Given the description of an element on the screen output the (x, y) to click on. 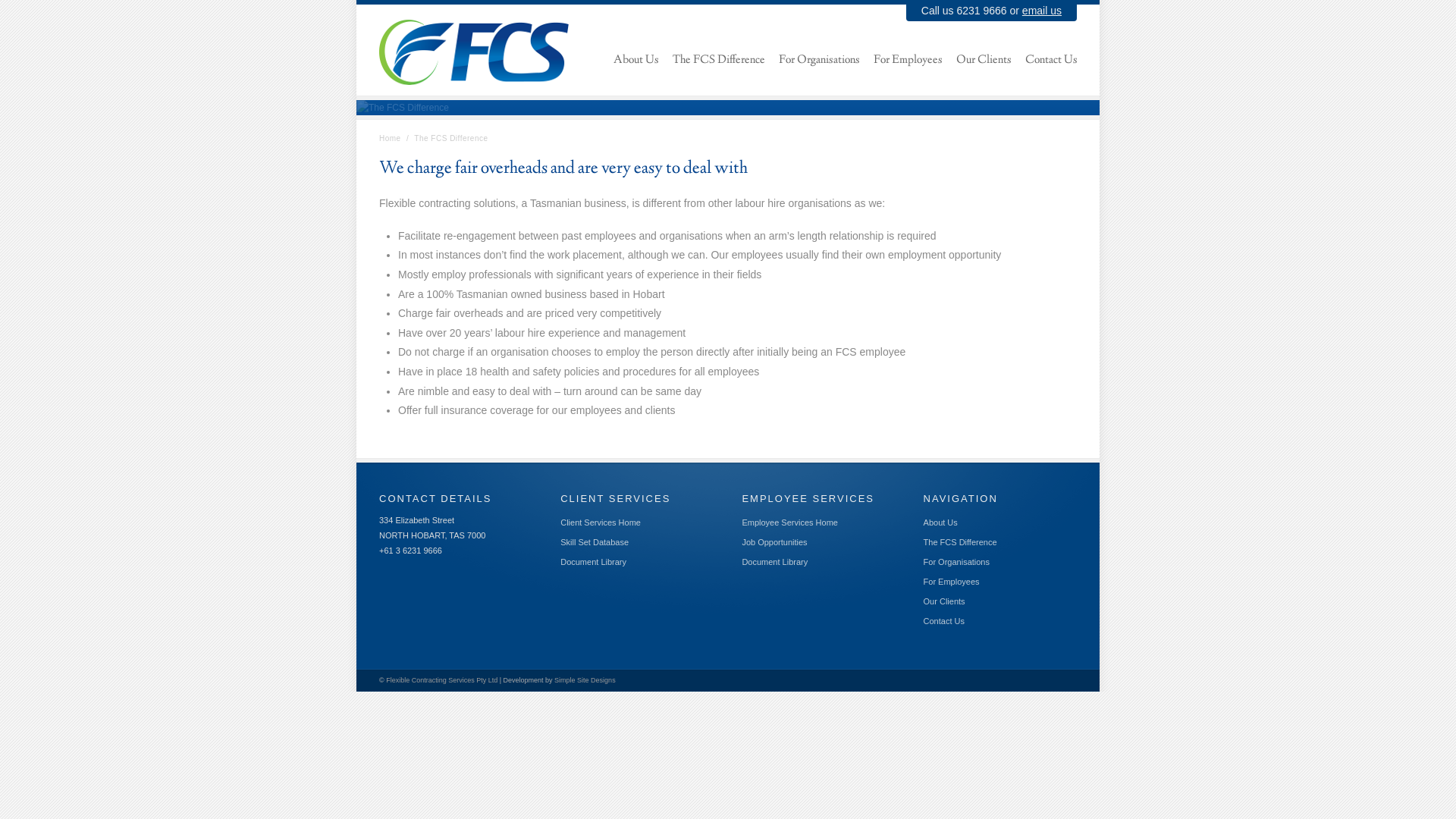
Simple Site Designs Element type: text (584, 680)
Contact Us Element type: text (1051, 60)
Home Element type: text (390, 138)
For Employees Element type: text (951, 581)
The FCS Difference Element type: hover (402, 107)
Employee Services Home Element type: text (789, 522)
The FCS Difference Element type: text (718, 60)
About Us Element type: text (635, 60)
Flexible Contracting Services Pty Ltd Element type: text (441, 680)
email us Element type: text (1041, 10)
Document Library Element type: text (593, 561)
Our Clients Element type: text (944, 600)
Contact Us Element type: text (943, 620)
Document Library Element type: text (774, 561)
For Organisations Element type: text (956, 561)
Skill Set Database Element type: text (594, 541)
Client Services Home Element type: text (600, 522)
Our Clients Element type: text (983, 60)
For Employees Element type: text (907, 60)
About Us Element type: text (940, 522)
Job Opportunities Element type: text (773, 541)
For Organisations Element type: text (819, 60)
The FCS Difference Element type: text (960, 541)
